Given the description of an element on the screen output the (x, y) to click on. 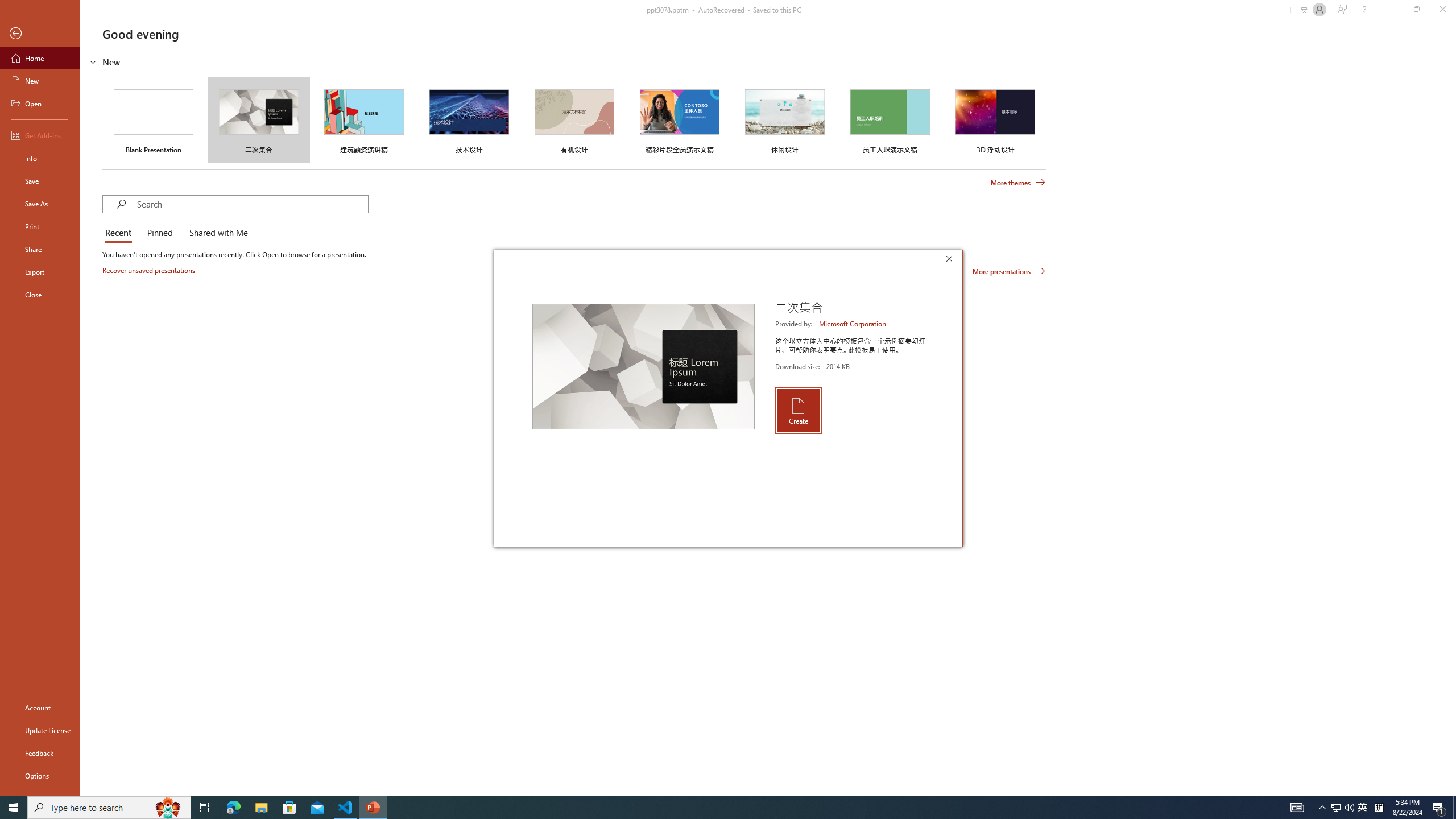
Get Add-ins (40, 134)
Options (40, 775)
Microsoft Edge (233, 807)
Update License (40, 730)
Save As (40, 203)
Export (40, 271)
